Given the description of an element on the screen output the (x, y) to click on. 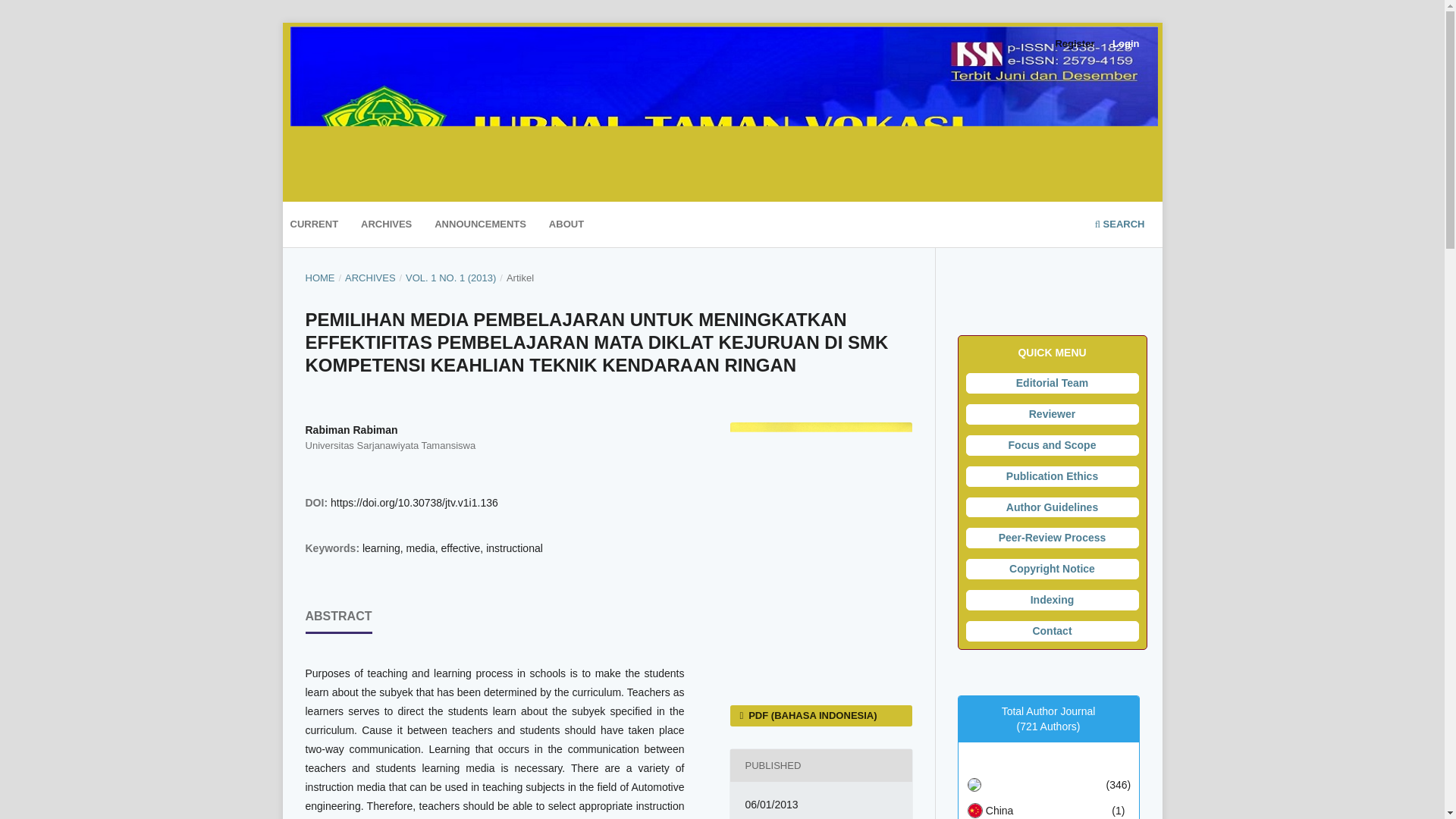
HOME (319, 278)
CURRENT (314, 225)
ARCHIVES (386, 225)
ANNOUNCEMENTS (480, 225)
Register (1074, 43)
ARCHIVES (370, 278)
Login (1126, 43)
SEARCH (1119, 225)
ABOUT (565, 225)
